Given the description of an element on the screen output the (x, y) to click on. 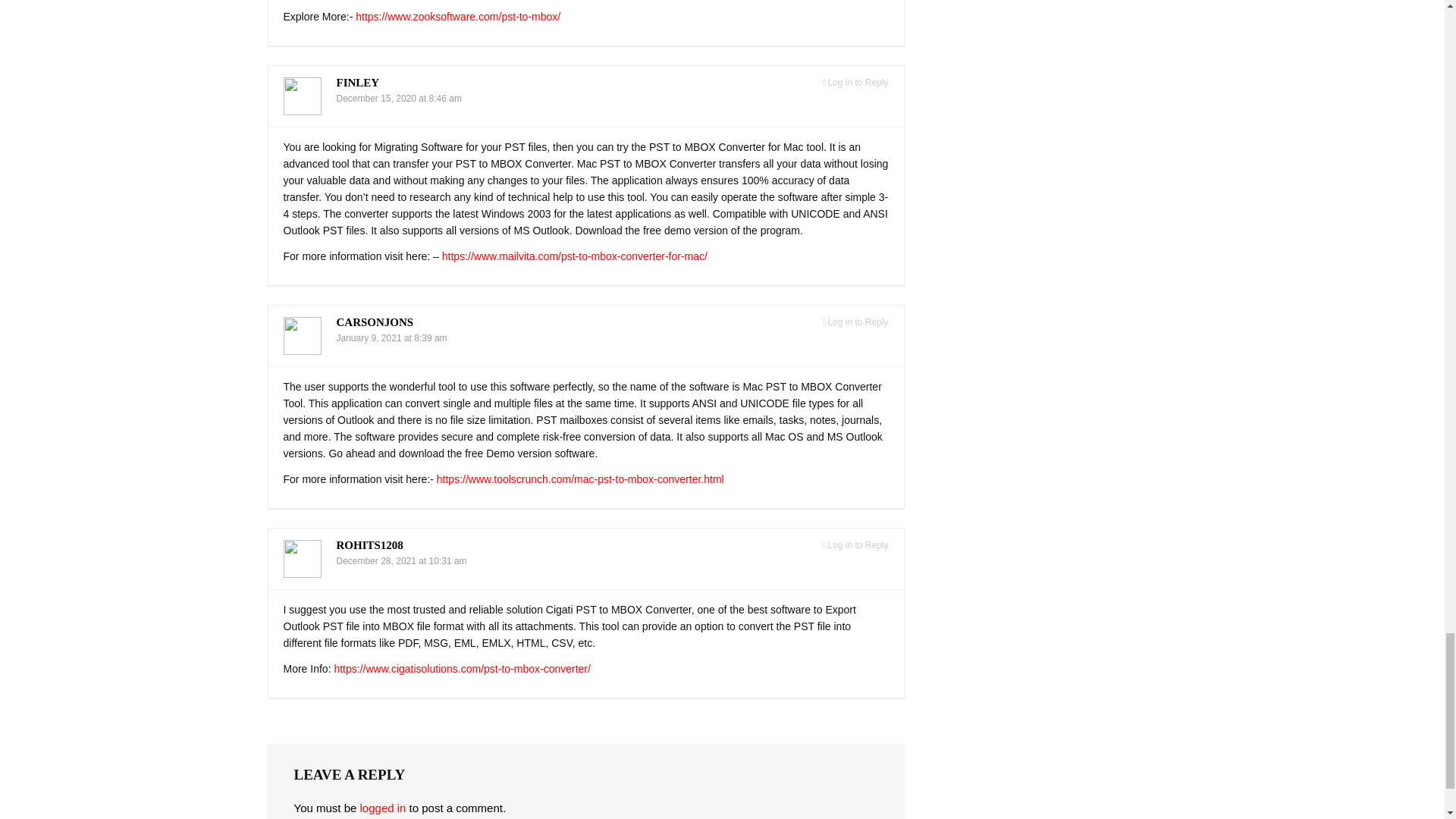
ROHITS1208 (369, 544)
December 15, 2020 at 8:46 am (398, 98)
December 28, 2021 at 10:31 am (401, 561)
Log in to Reply (855, 322)
Log in to Reply (855, 82)
Log in to Reply (855, 545)
January 9, 2021 at 8:39 am (391, 337)
